Given the description of an element on the screen output the (x, y) to click on. 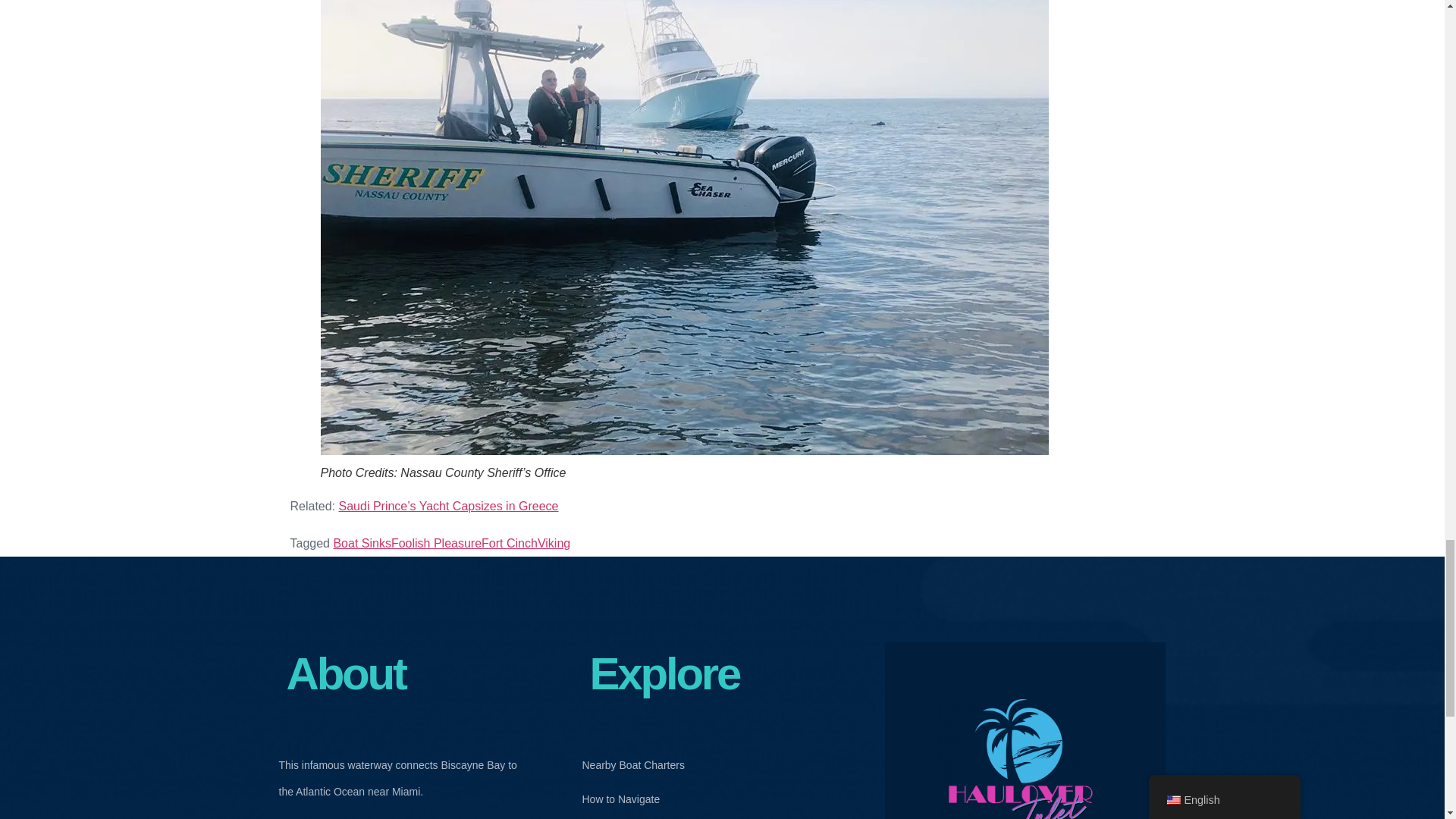
Viking (553, 543)
Nearby Boat Charters (632, 765)
Boat Sinks (361, 543)
Fort Cinch (509, 543)
How to Navigate (632, 799)
Foolish Pleasure (436, 543)
